Given the description of an element on the screen output the (x, y) to click on. 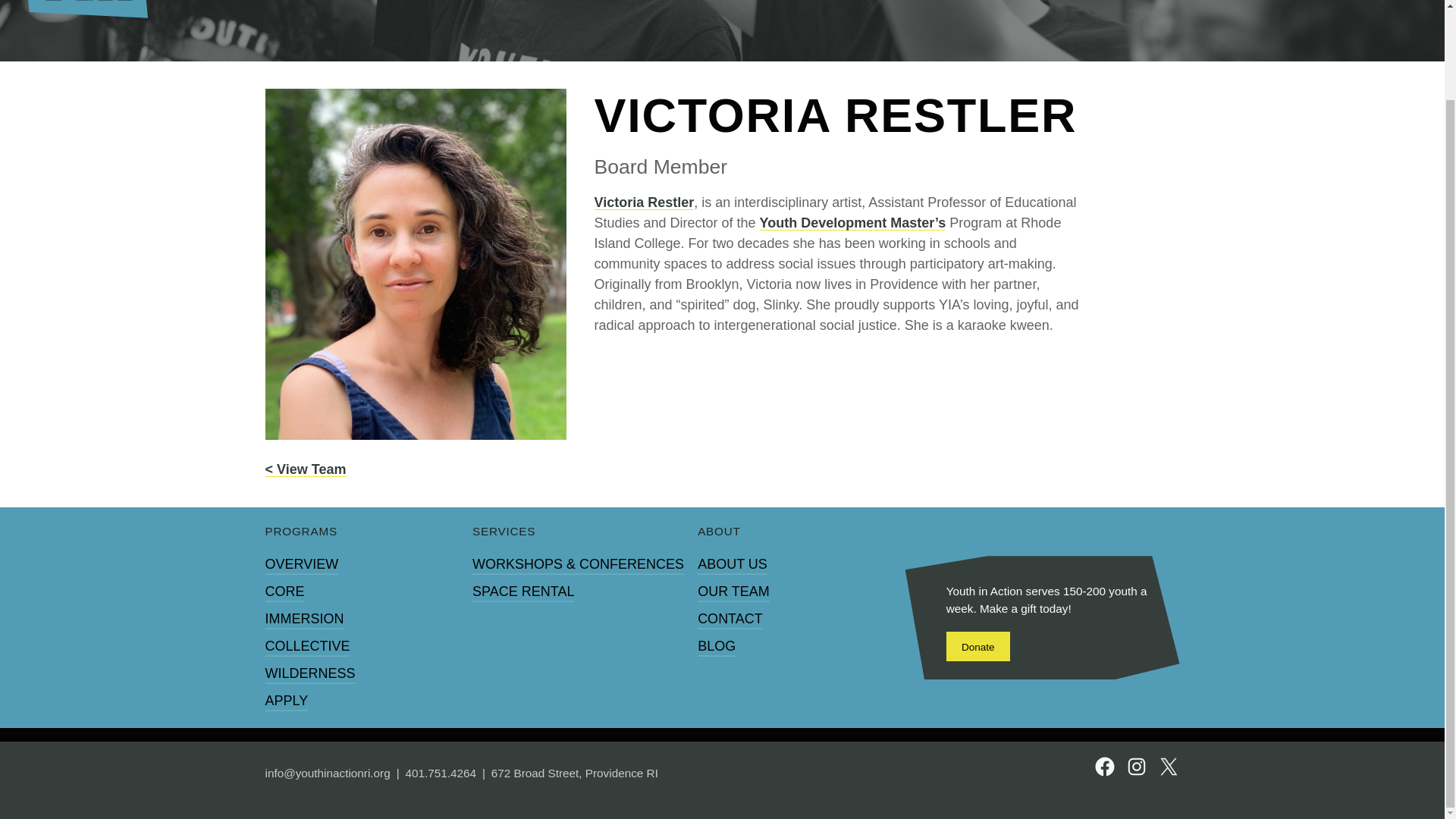
OVERVIEW (301, 564)
COLLECTIVE (307, 646)
CORE (284, 591)
Victoria Restler (644, 203)
WILDERNESS (309, 673)
SERVICES (503, 531)
ABOUT (719, 531)
IMMERSION (303, 618)
PROGRAMS (300, 531)
ABOUT US (732, 564)
APPLY (286, 700)
SPACE RENTAL (522, 591)
